Given the description of an element on the screen output the (x, y) to click on. 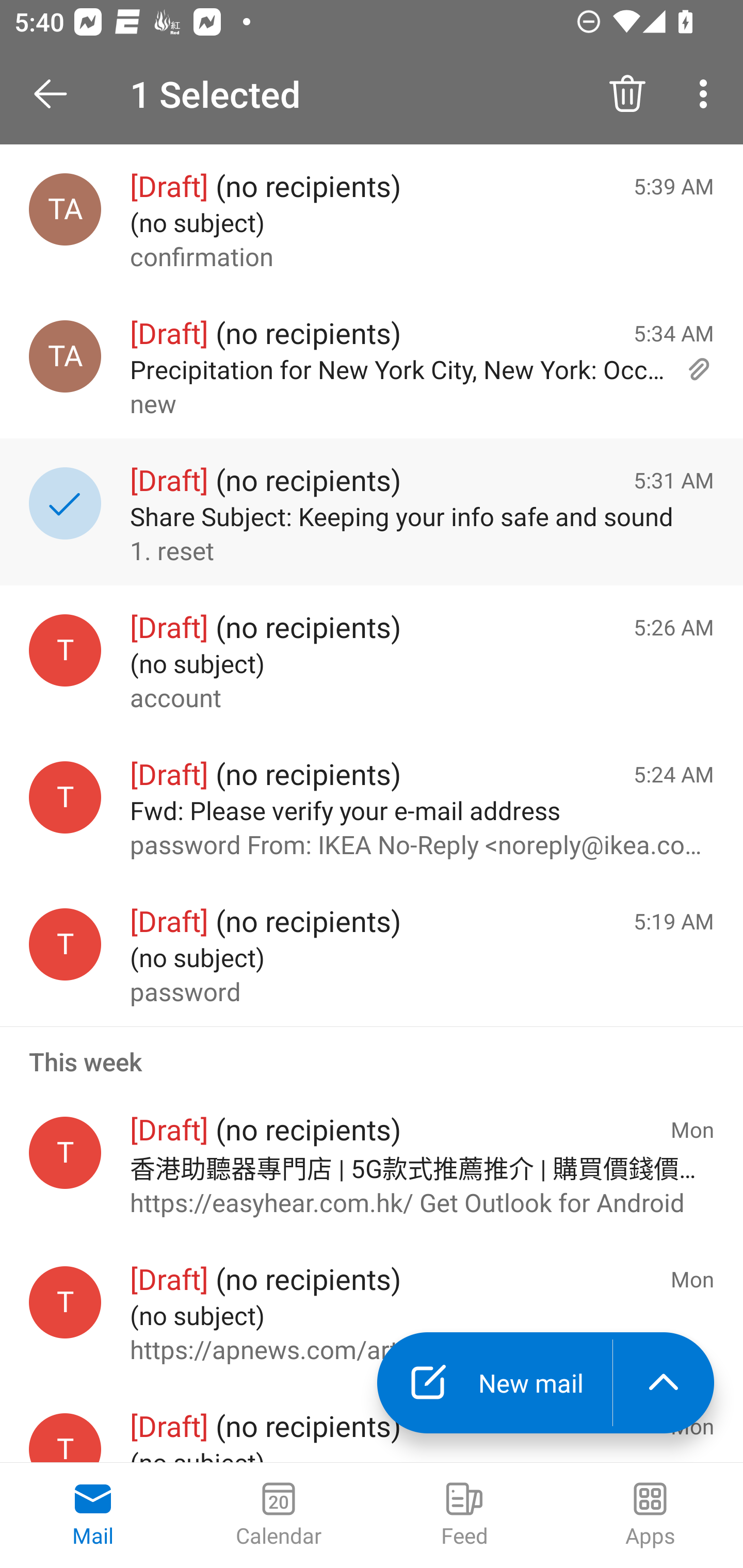
Delete (626, 93)
More options (706, 93)
Open Navigation Drawer (57, 94)
Test Appium, testappium002@outlook.com (64, 210)
Test Appium, testappium002@outlook.com (64, 355)
testappium002@outlook.com (64, 650)
testappium002@outlook.com (64, 798)
testappium002@outlook.com (64, 943)
testappium002@outlook.com (64, 1152)
testappium002@outlook.com (64, 1302)
New mail (494, 1382)
launch the extended action menu (663, 1382)
testappium002@outlook.com (64, 1437)
Calendar (278, 1515)
Feed (464, 1515)
Apps (650, 1515)
